Given the description of an element on the screen output the (x, y) to click on. 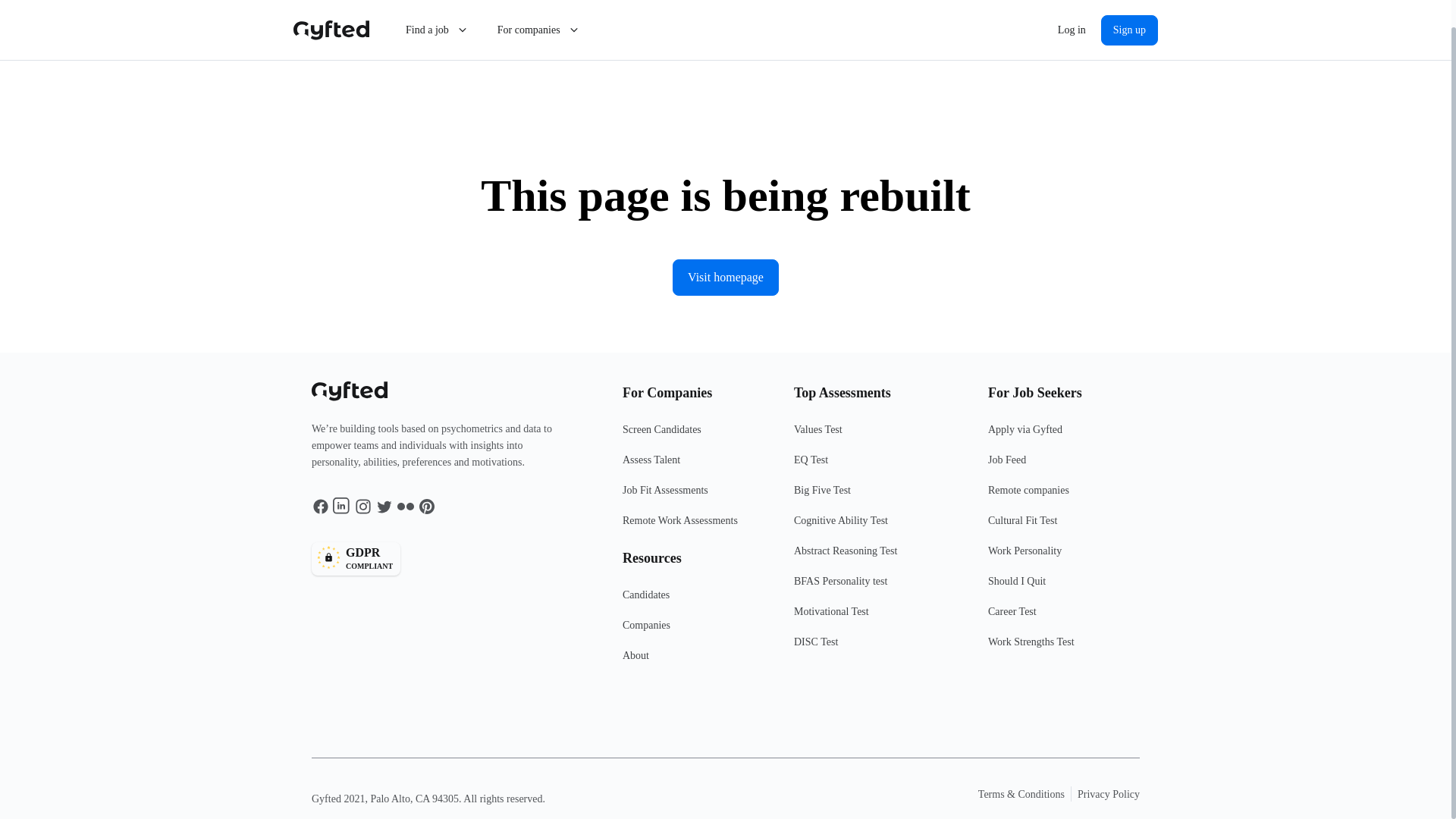
Cognitive Ability Test (880, 526)
Find a job (437, 8)
BFAS Personality test (880, 587)
Candidates (442, 558)
Values Test (698, 601)
Sign up (880, 435)
EQ Test (1128, 8)
Job Fit Assessments (880, 466)
For companies (698, 496)
Assess Talent (539, 8)
Motivational Test (698, 466)
Companies (880, 617)
About (698, 631)
Log in (698, 662)
